Given the description of an element on the screen output the (x, y) to click on. 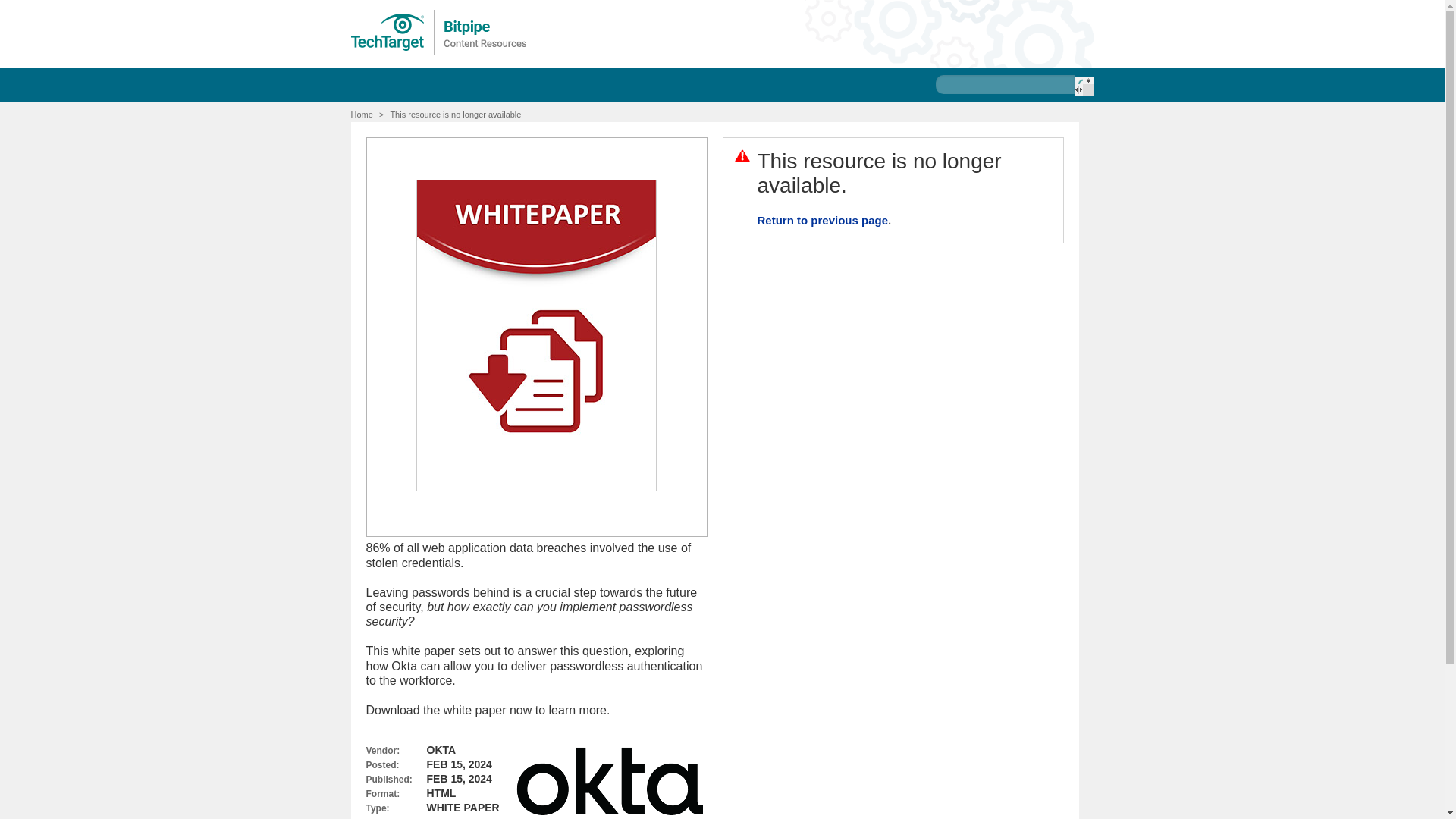
Home (361, 113)
Search (1083, 85)
Return to previous page (822, 219)
Bitpipe (439, 32)
Search (1083, 85)
